Given the description of an element on the screen output the (x, y) to click on. 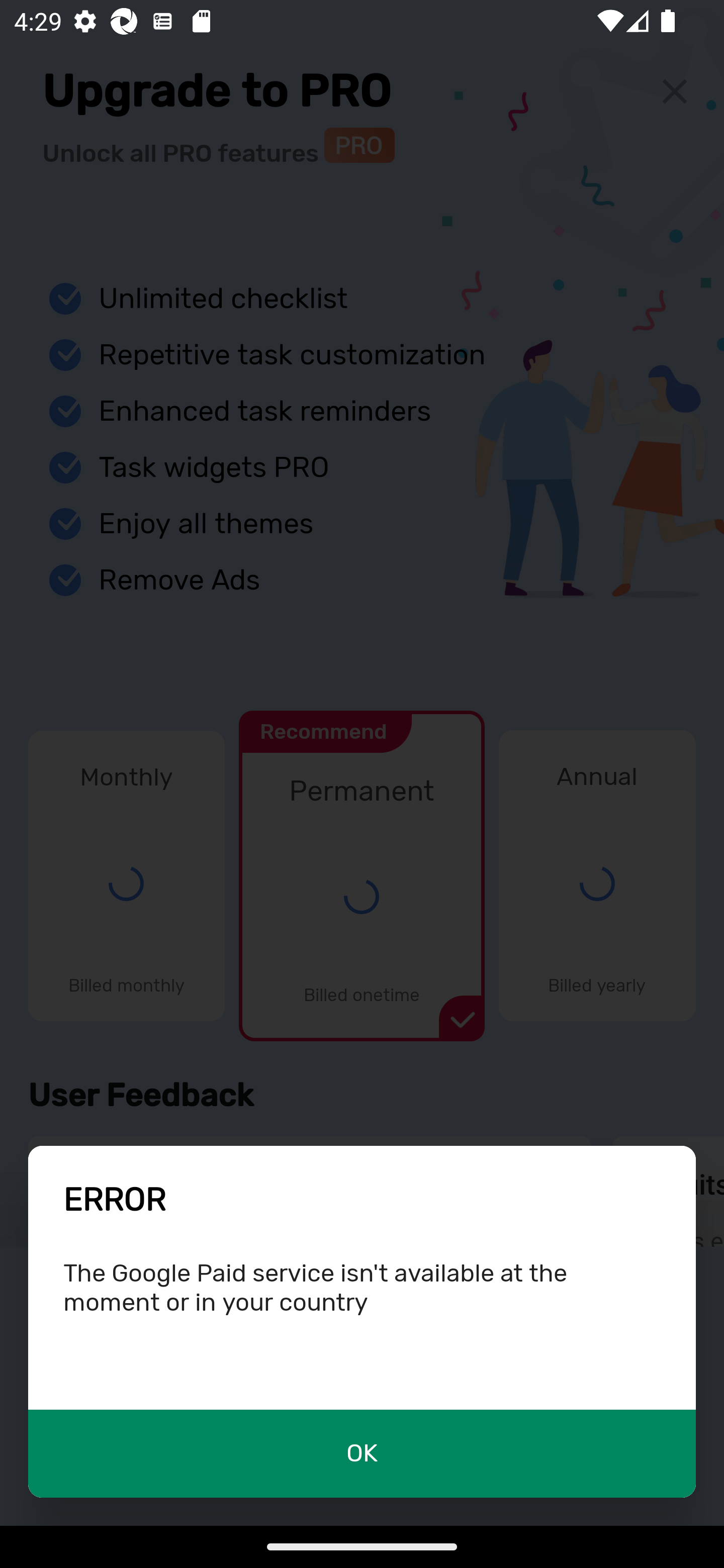
OK (361, 1453)
